Given the description of an element on the screen output the (x, y) to click on. 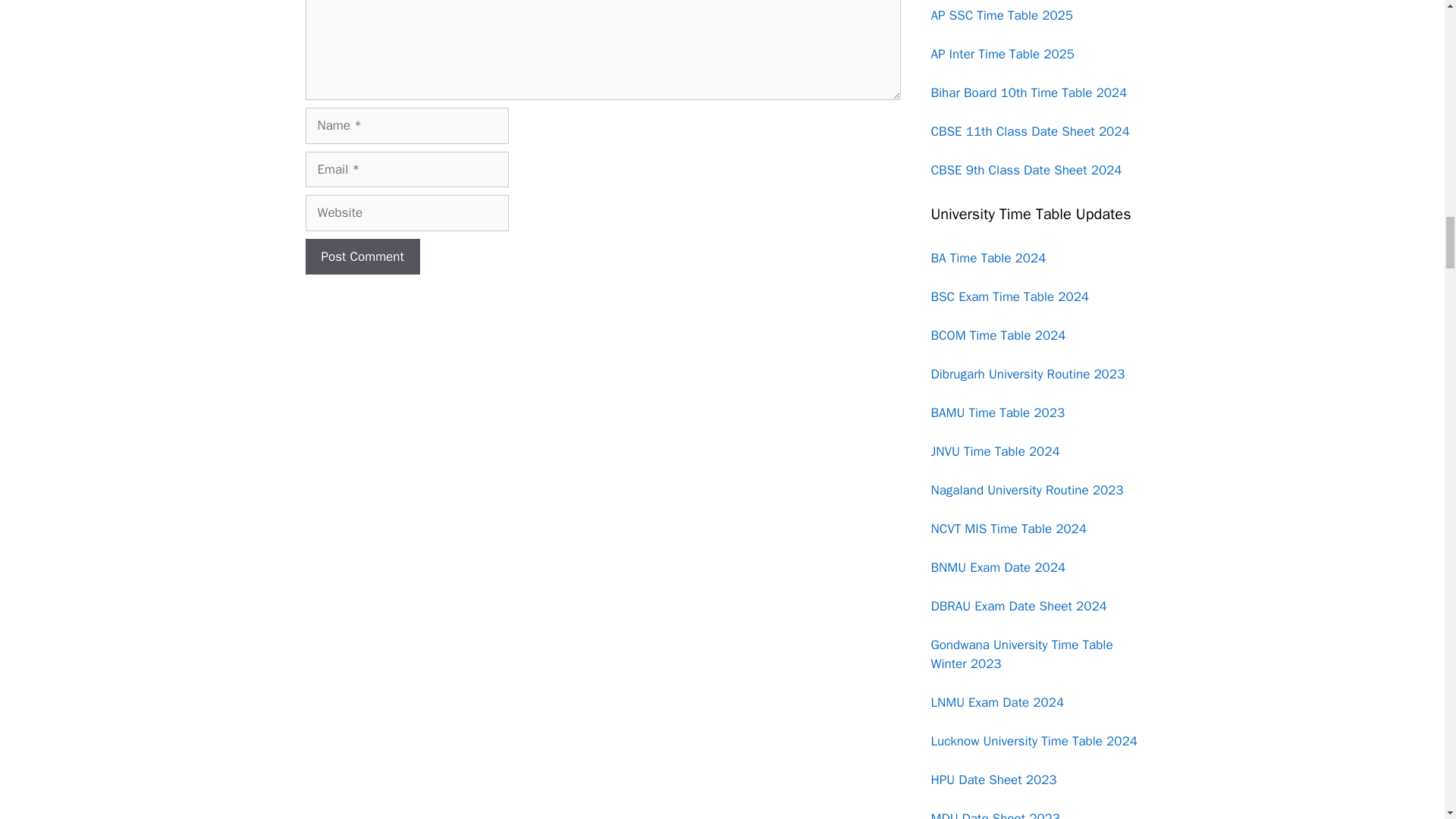
Post Comment (361, 257)
Post Comment (361, 257)
